Given the description of an element on the screen output the (x, y) to click on. 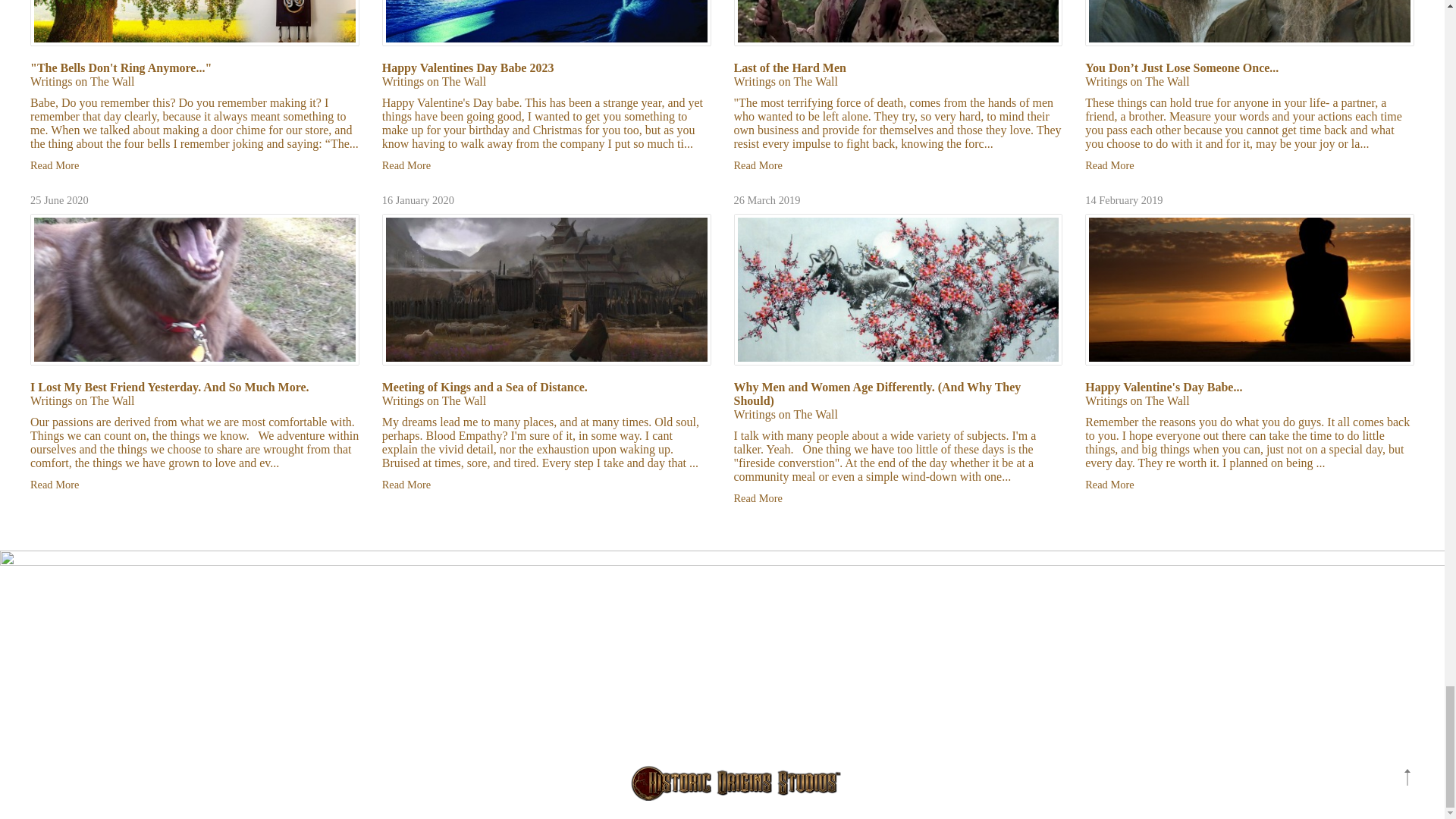
fenwolfonshorenighblank (546, 22)
"The Bells Don't Ring Anymore..." (120, 67)
oalinthemeadowsm (194, 22)
